Given the description of an element on the screen output the (x, y) to click on. 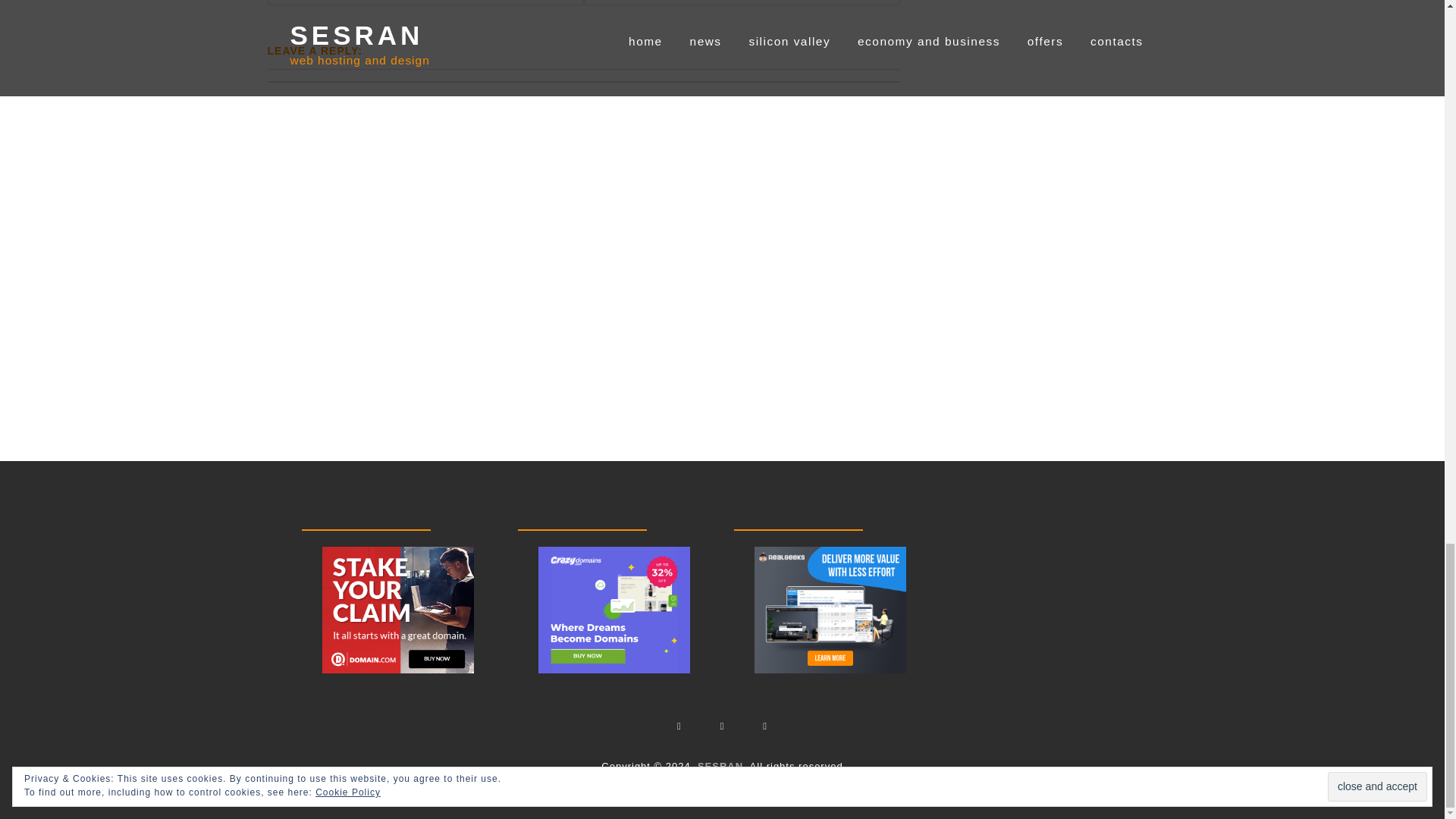
QATAR FILES WTO COMPLAINT AGAINST TRADE BOYCOTT (741, 2)
